Given the description of an element on the screen output the (x, y) to click on. 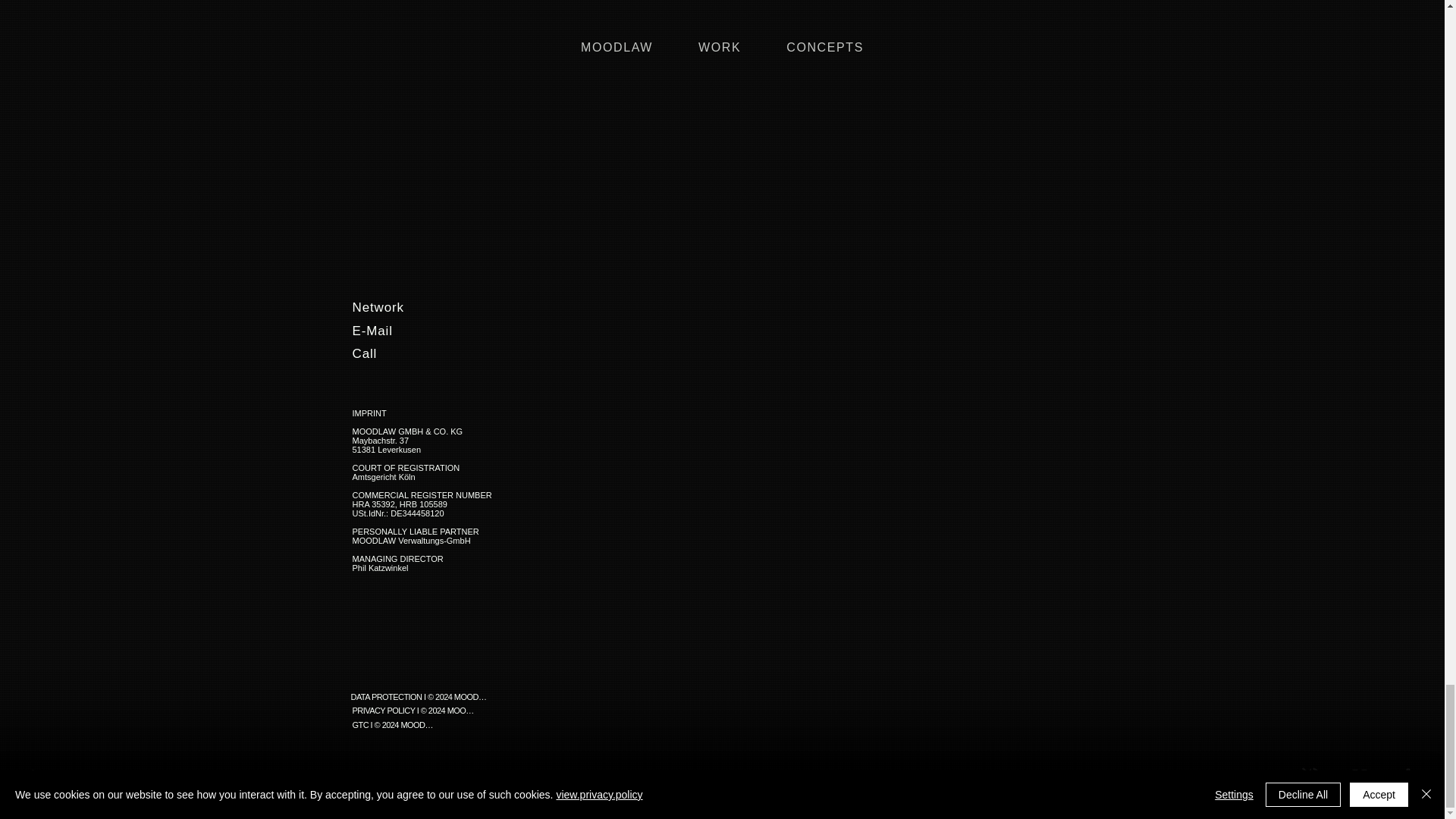
Network (449, 307)
Call (449, 354)
E-Mail (449, 331)
